Given the description of an element on the screen output the (x, y) to click on. 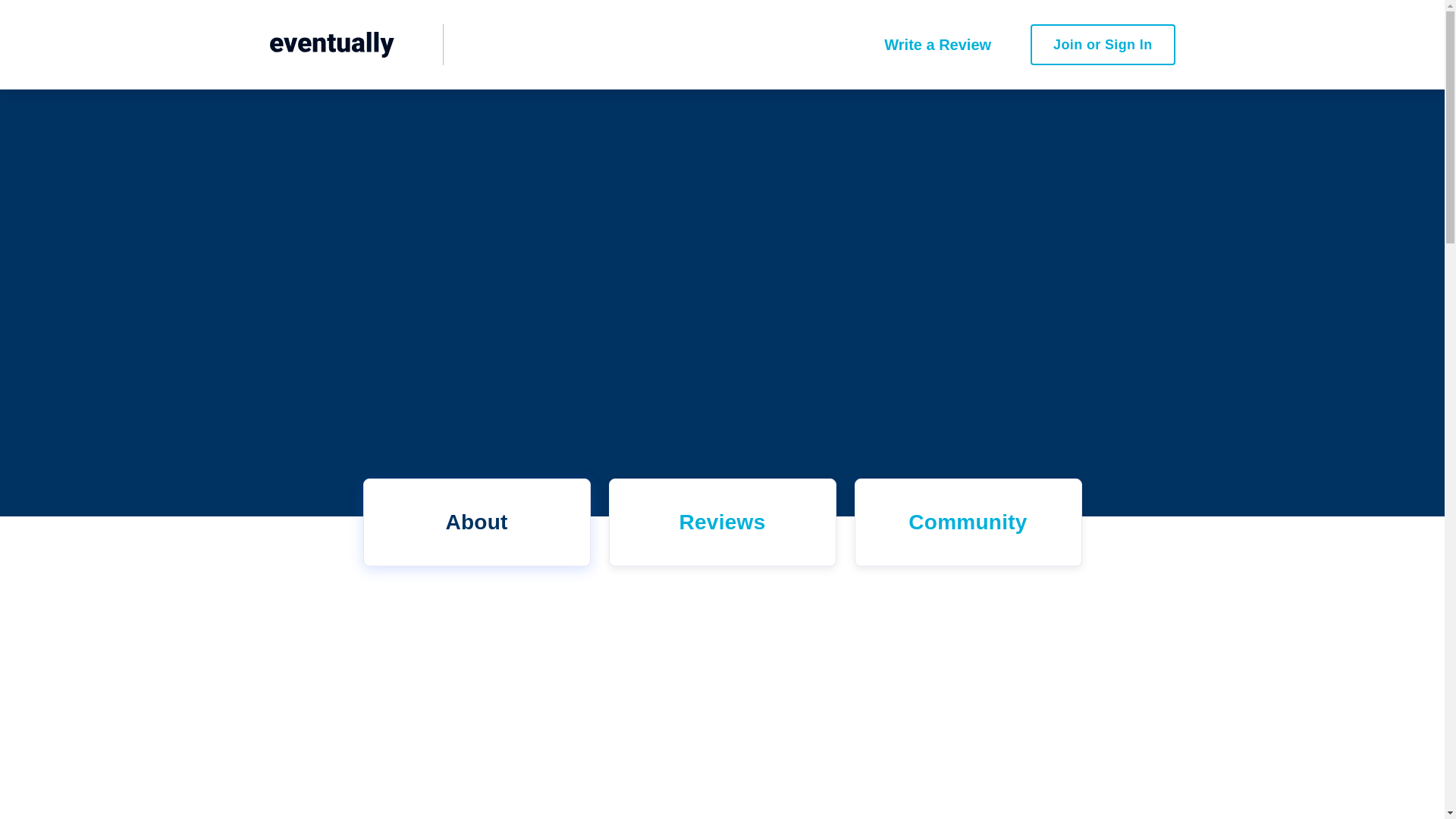
Reviews (721, 522)
Join or Sign In (1101, 44)
About (475, 522)
Write a Review (937, 44)
Community (967, 522)
